Given the description of an element on the screen output the (x, y) to click on. 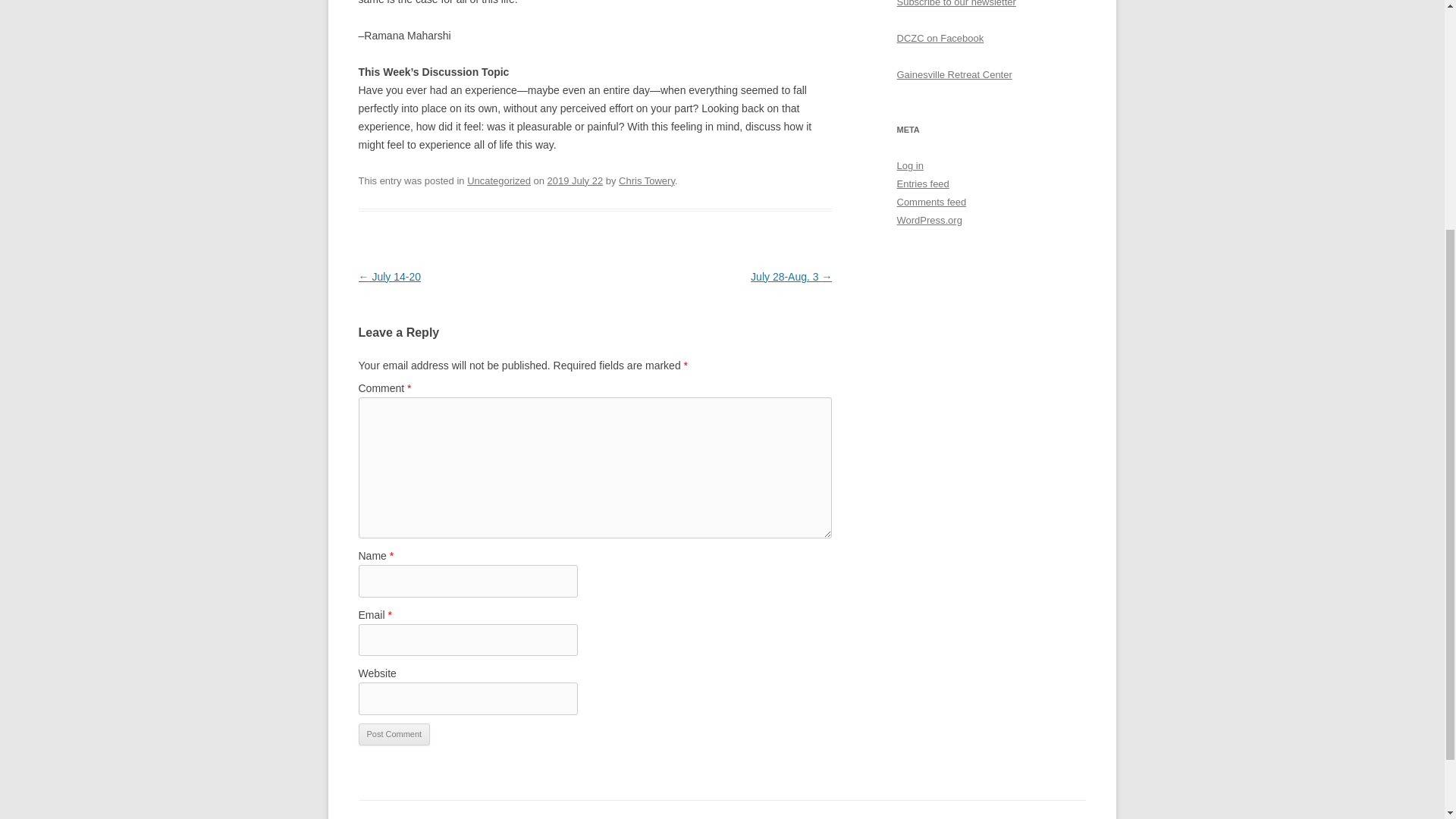
Chris Towery (646, 180)
DCZC on Facebook (940, 38)
WordPress.org (928, 220)
Post Comment (393, 734)
Log in (909, 165)
Entries feed (922, 183)
View all posts by Chris Towery (646, 180)
Gainesville Retreat Center (953, 74)
Comments feed (931, 202)
Subscribe to our newsletter (955, 3)
Uncategorized (499, 180)
21:56 (575, 180)
Post Comment (393, 734)
2019 July 22 (575, 180)
